Given the description of an element on the screen output the (x, y) to click on. 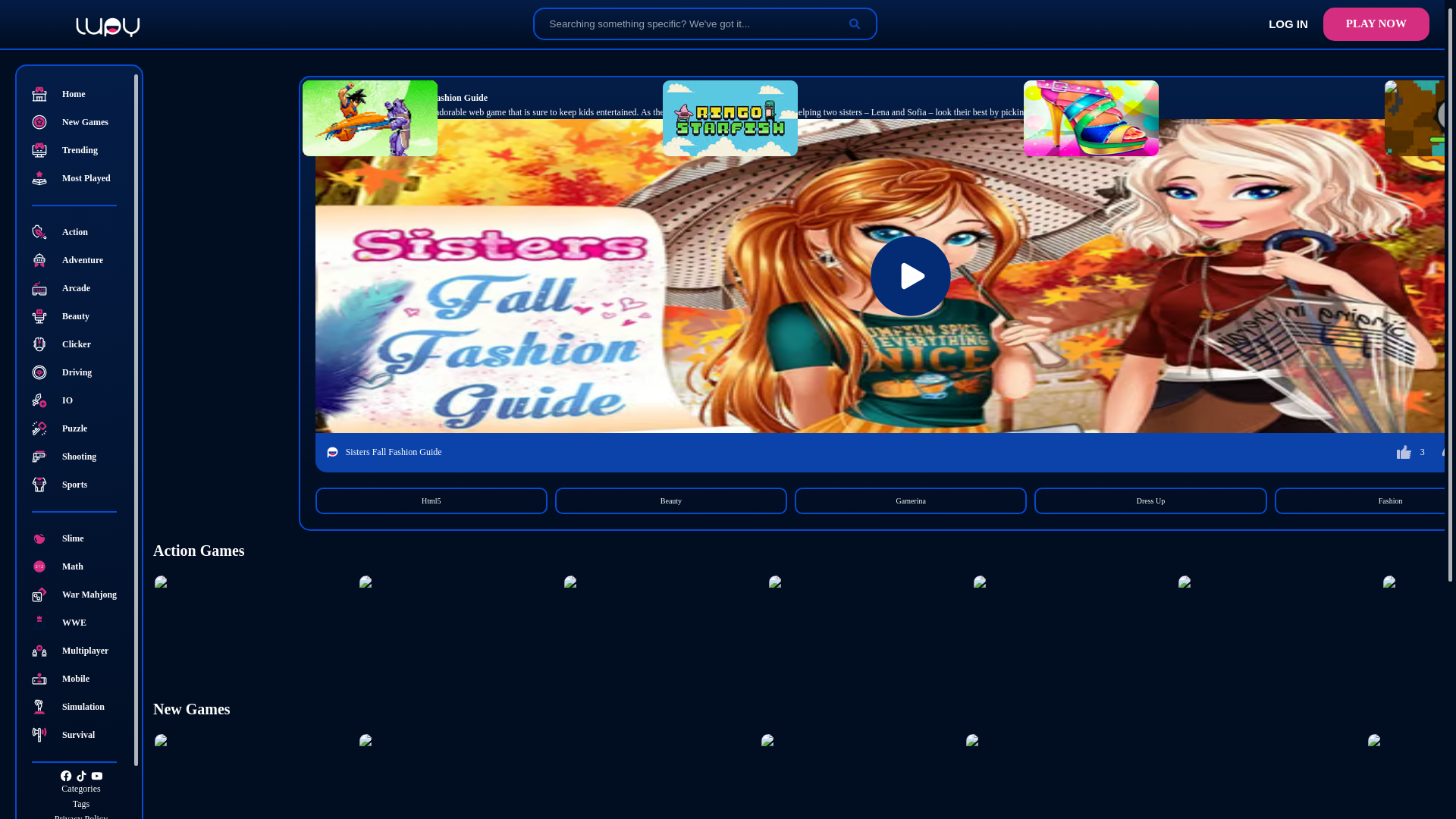
Beauty (81, 315)
Privacy Policy (81, 816)
Tags (81, 803)
Sisters Fall Fashion Guide (436, 97)
War Mahjong (81, 594)
Multiplayer (81, 650)
Arcade (81, 288)
WWE (81, 621)
Shooting (81, 456)
Adventure (81, 259)
